Given the description of an element on the screen output the (x, y) to click on. 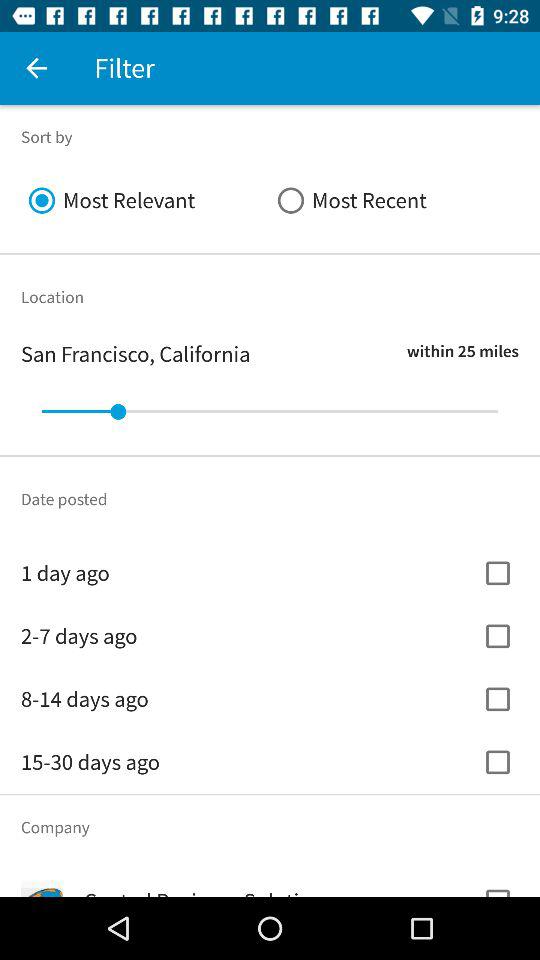
tap item next to the most relevant (394, 200)
